Given the description of an element on the screen output the (x, y) to click on. 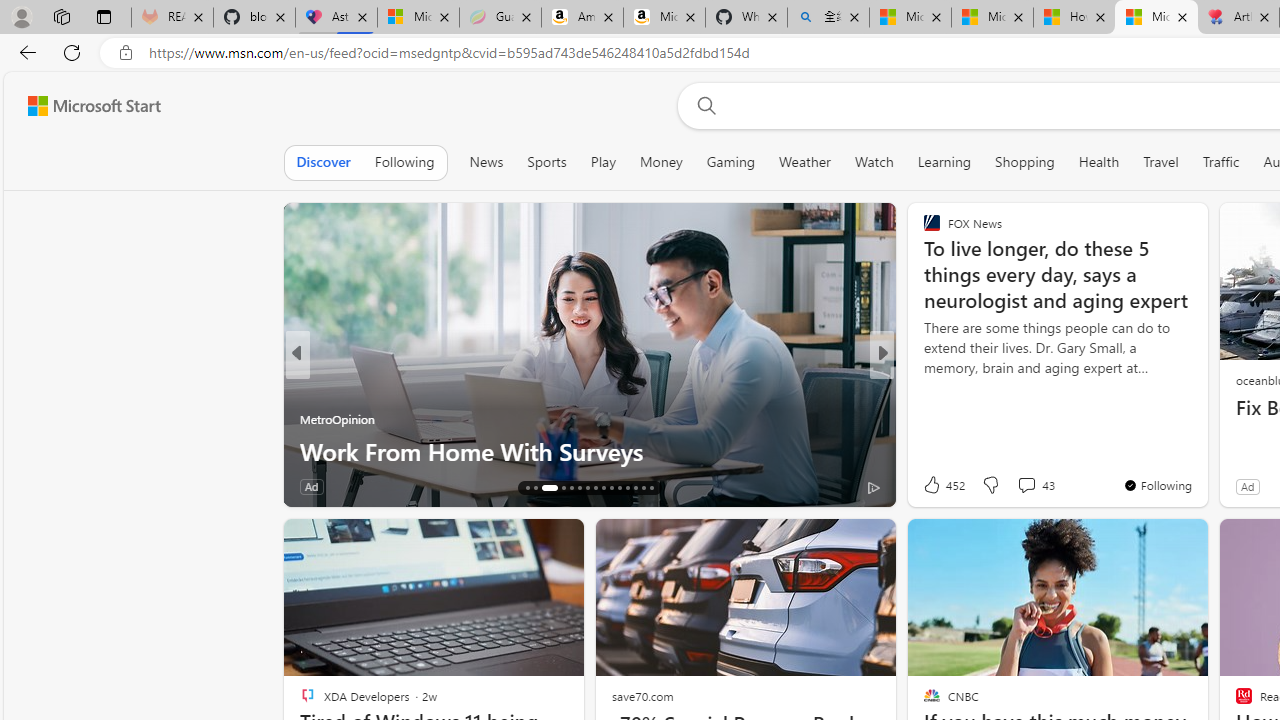
Play (603, 162)
INSIDER (923, 386)
You're following FOX News (1157, 485)
View comments 58 Comment (1014, 485)
SlashGear (923, 418)
67 Like (934, 486)
View comments 89 Comment (413, 486)
View comments 496 Comment (1025, 486)
The Cool Down (923, 386)
View comments 58 Comment (1022, 486)
Savvy Dime (923, 386)
Watch (874, 161)
Dislike (989, 484)
